Given the description of an element on the screen output the (x, y) to click on. 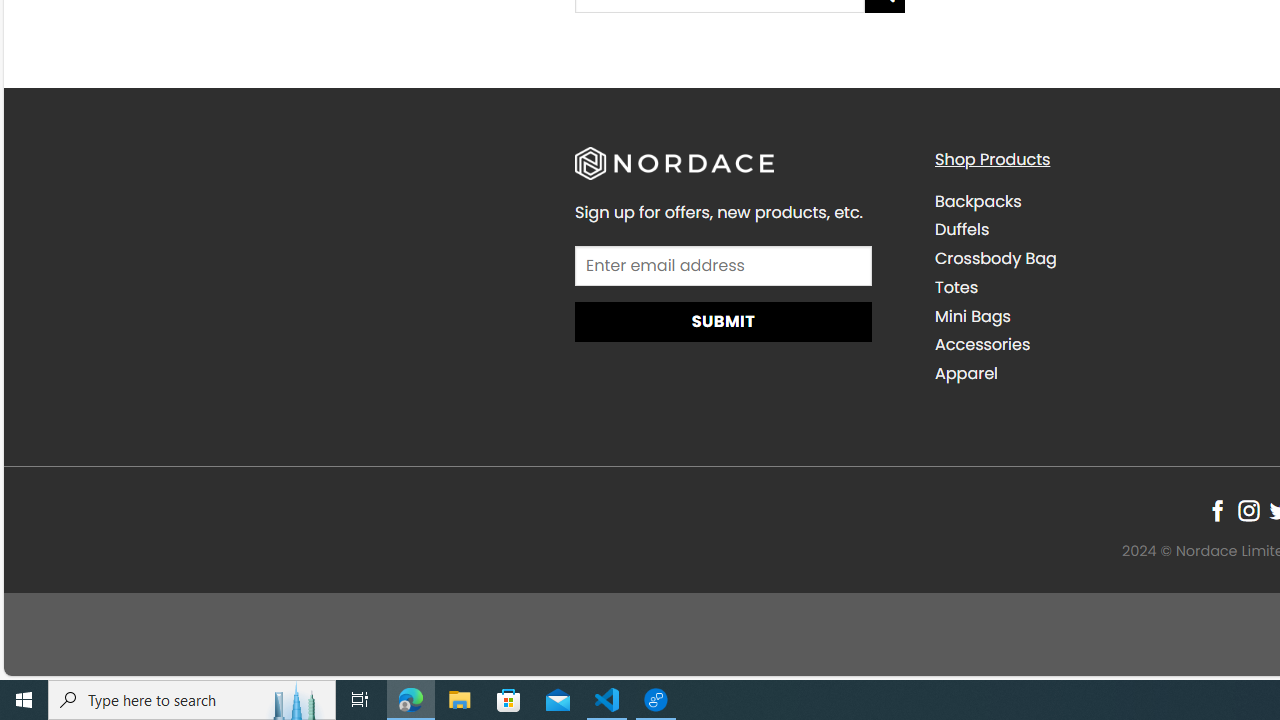
Apparel (966, 373)
Accessories (1099, 345)
AutomationID: field_4_1 (722, 267)
Crossbody Bag (1099, 259)
Totes (1099, 287)
Backpacks (1099, 201)
Duffels (1099, 229)
Backpacks (977, 200)
Crossbody Bag (995, 258)
AutomationID: input_4_1 (722, 264)
Submit (722, 321)
Accessories (982, 344)
Follow on Facebook (1217, 511)
Duffels (961, 229)
Mini Bags (972, 315)
